Given the description of an element on the screen output the (x, y) to click on. 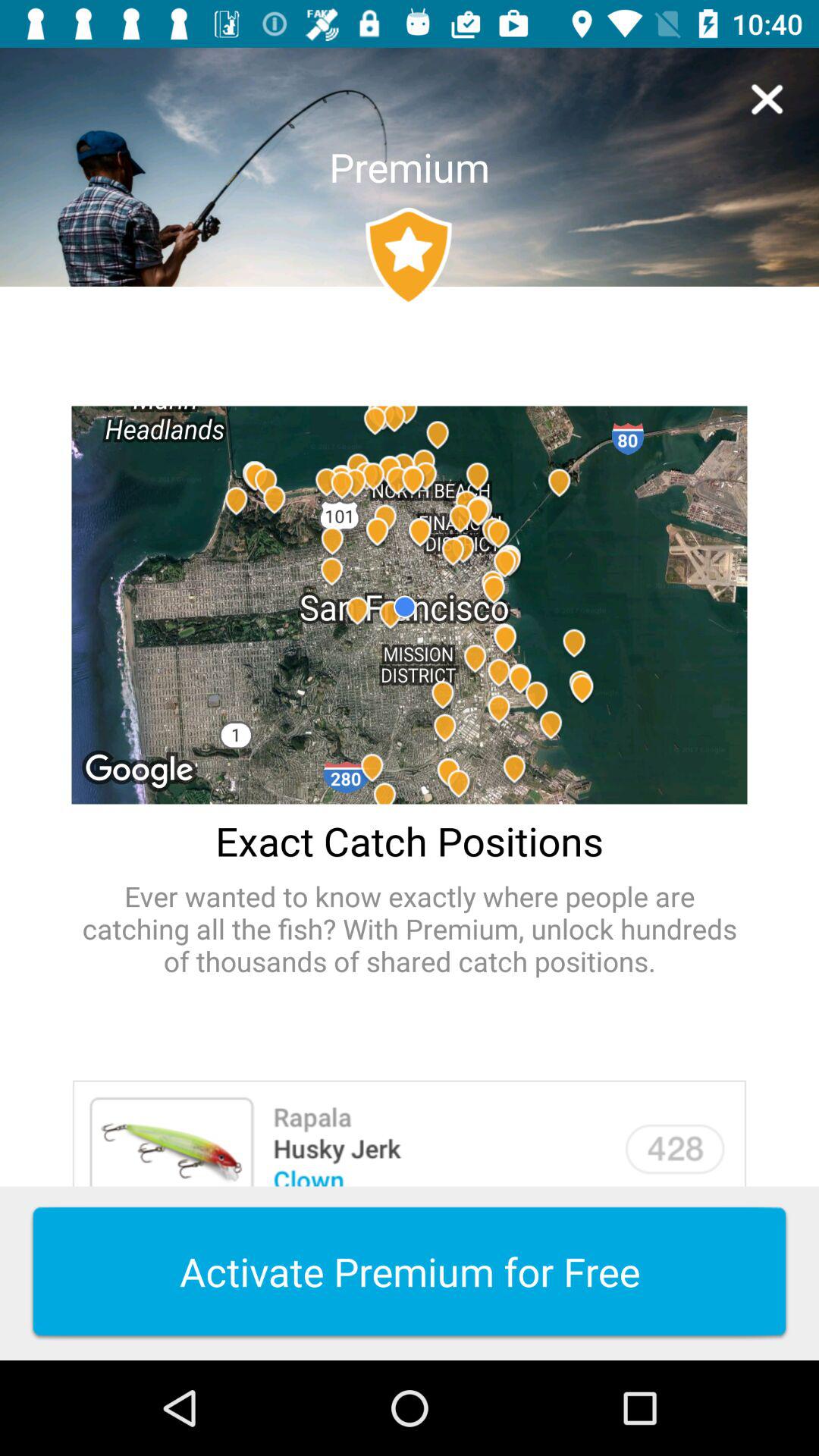
tap icon to the right of the premium item (767, 99)
